Given the description of an element on the screen output the (x, y) to click on. 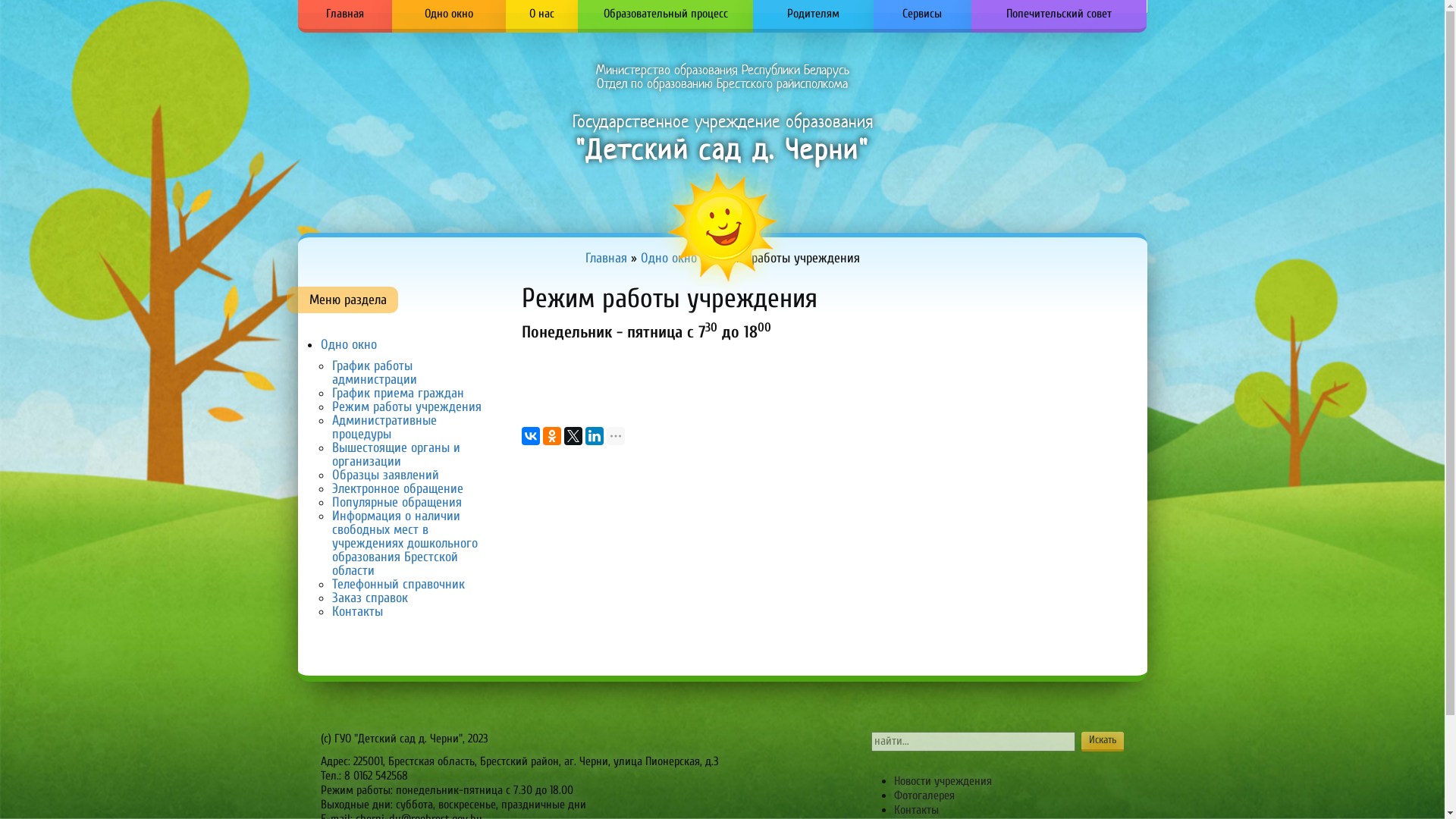
Twitter Element type: hover (573, 435)
LinkedIn Element type: hover (594, 435)
